Given the description of an element on the screen output the (x, y) to click on. 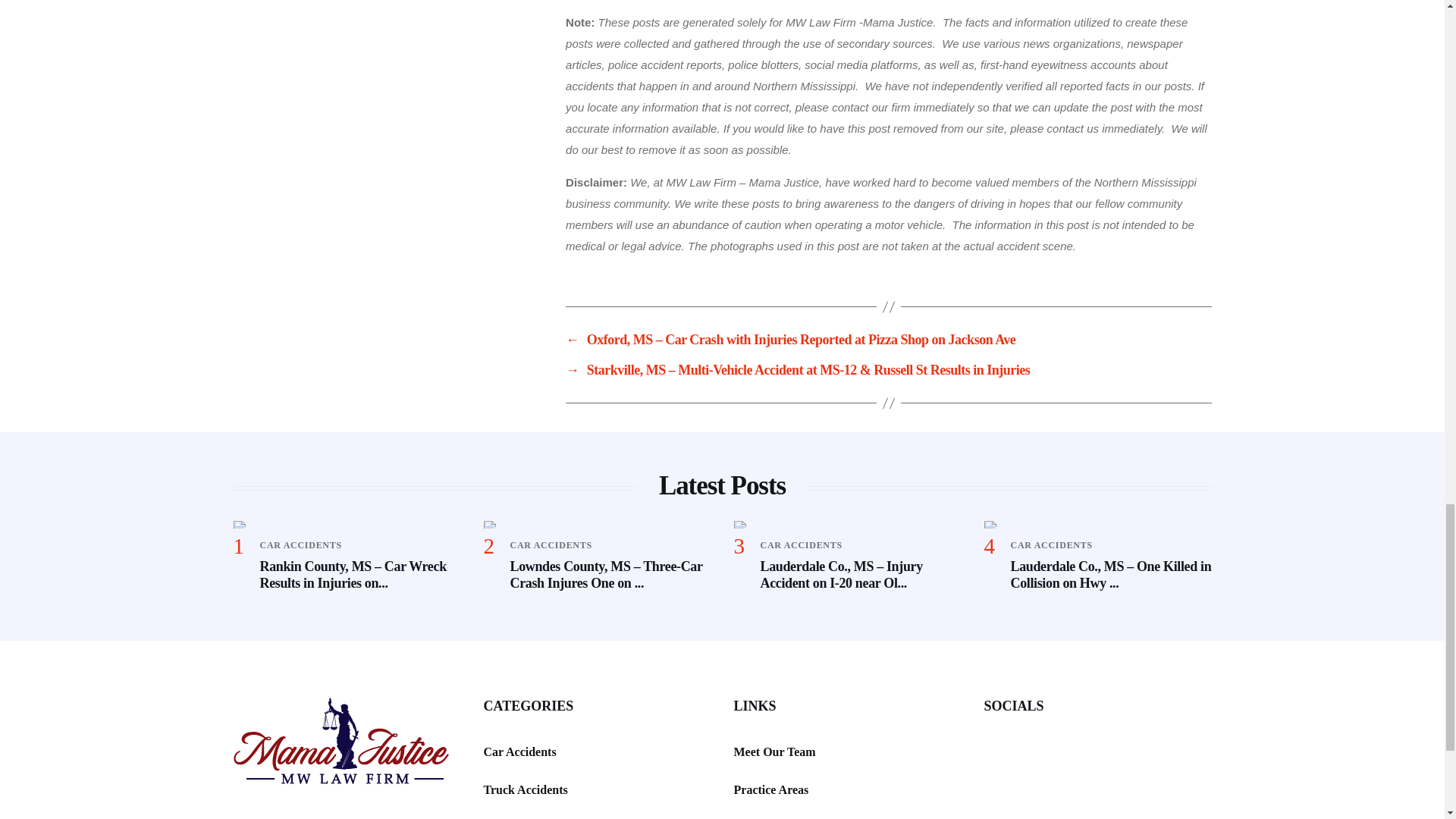
CAR ACCIDENTS (1051, 544)
CAR ACCIDENTS (299, 544)
Car Accidents (519, 752)
CAR ACCIDENTS (800, 544)
CAR ACCIDENTS (550, 544)
